Given the description of an element on the screen output the (x, y) to click on. 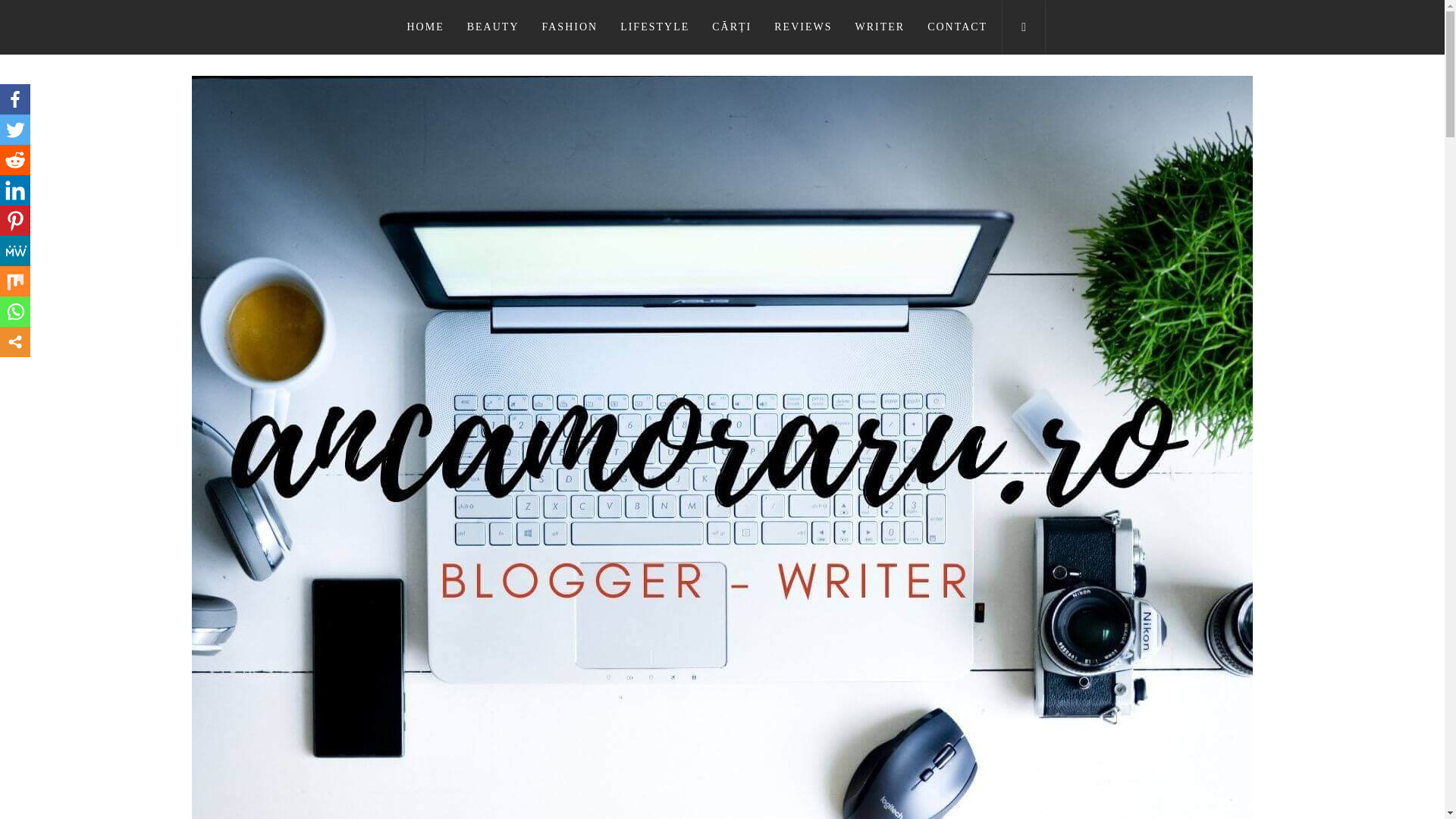
Twitter (15, 129)
LIFESTYLE (654, 27)
FASHION (570, 27)
LinkedIn (15, 190)
BEAUTY (493, 27)
REVIEWS (802, 27)
Facebook (15, 99)
MeWe (15, 250)
Reddit (15, 159)
Pinterest (15, 220)
Mix (15, 281)
HOME (425, 27)
